Given the description of an element on the screen output the (x, y) to click on. 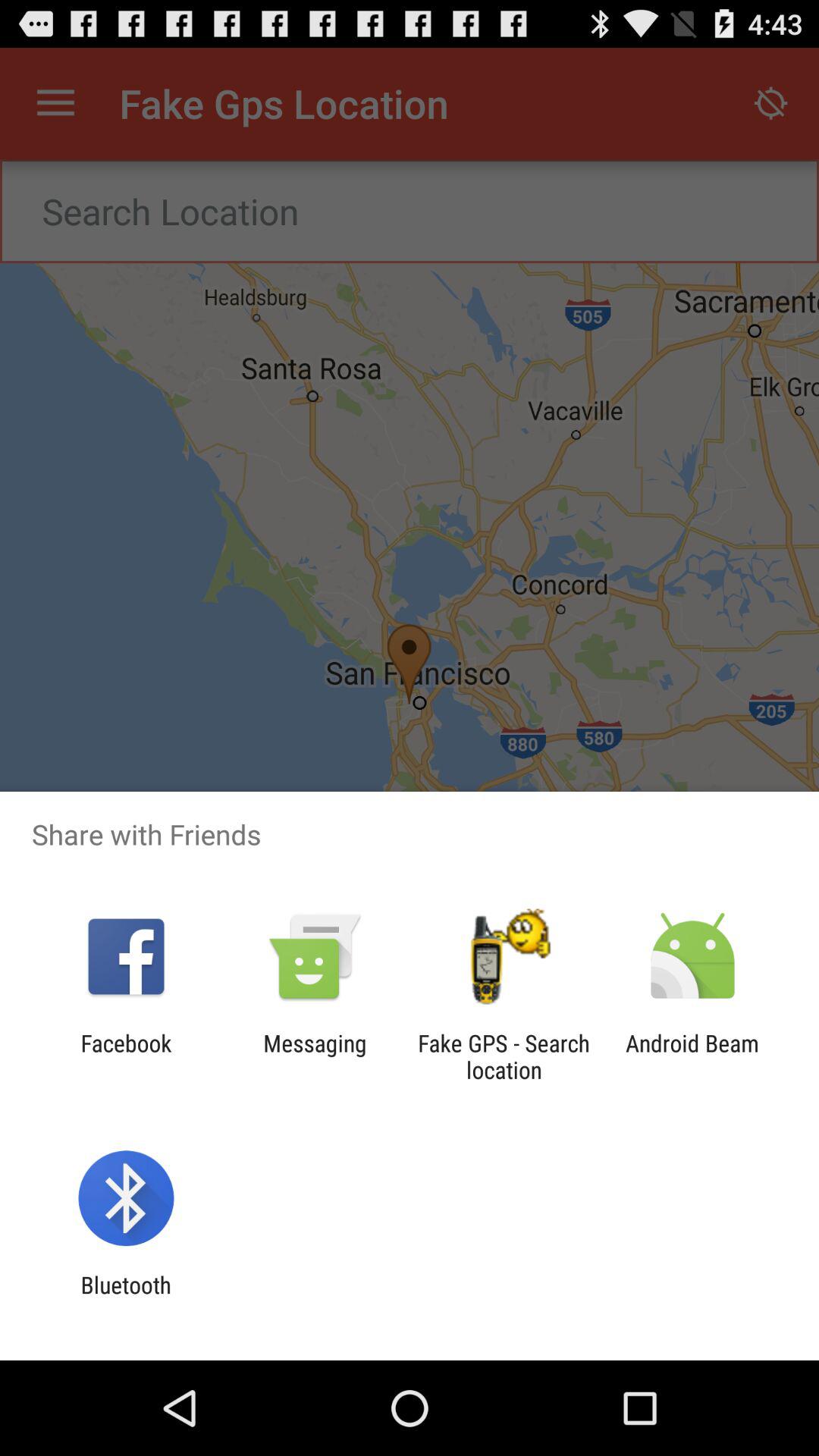
turn off app to the left of the messaging item (125, 1056)
